Given the description of an element on the screen output the (x, y) to click on. 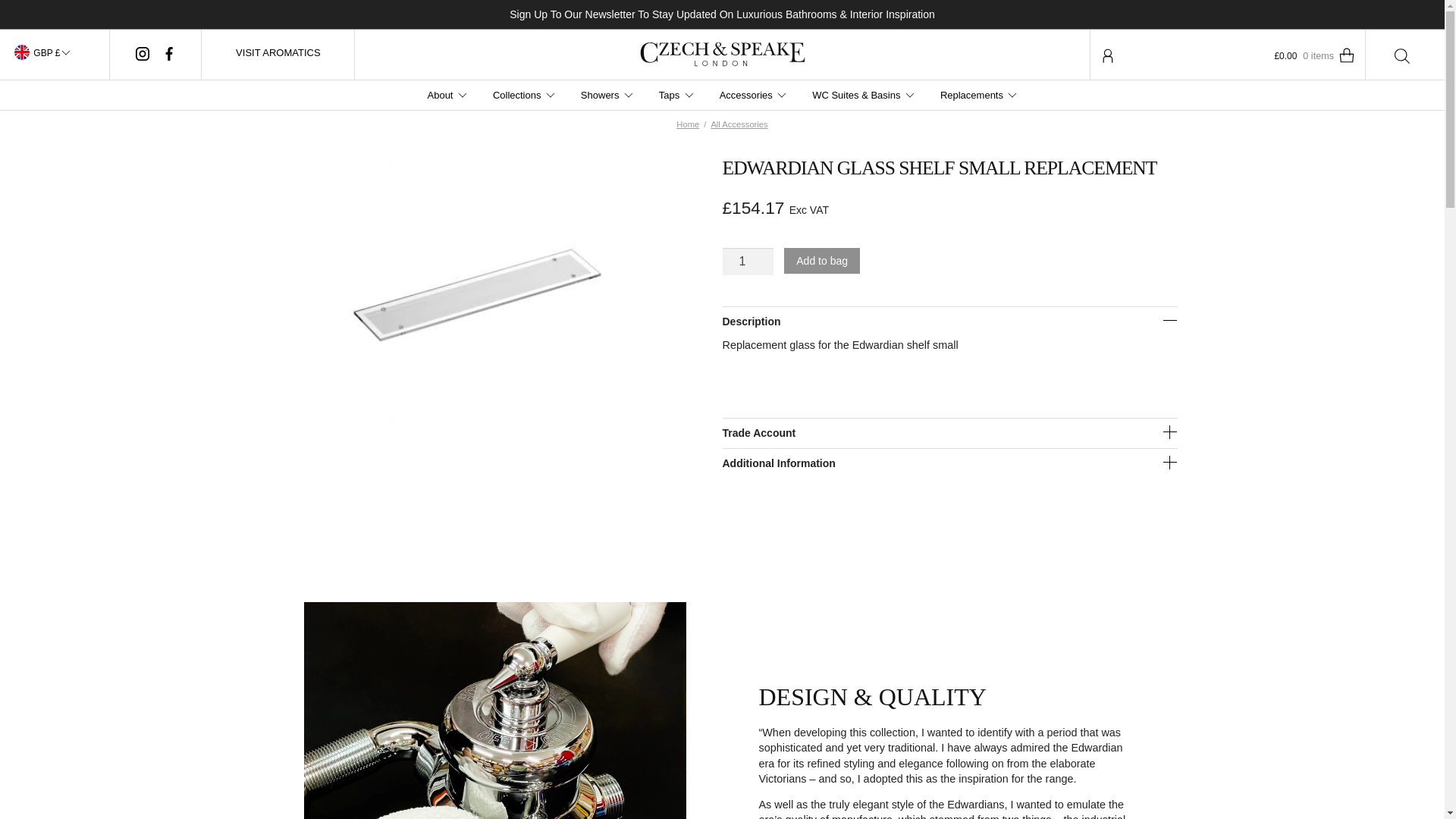
1 (747, 261)
Showers (607, 95)
Qty (747, 261)
Collections (523, 95)
VISIT AROMATICS (277, 52)
View your shopping bag (1300, 55)
Replacement Edwardian Glass Shelf 460mm (477, 295)
About (445, 95)
